Given the description of an element on the screen output the (x, y) to click on. 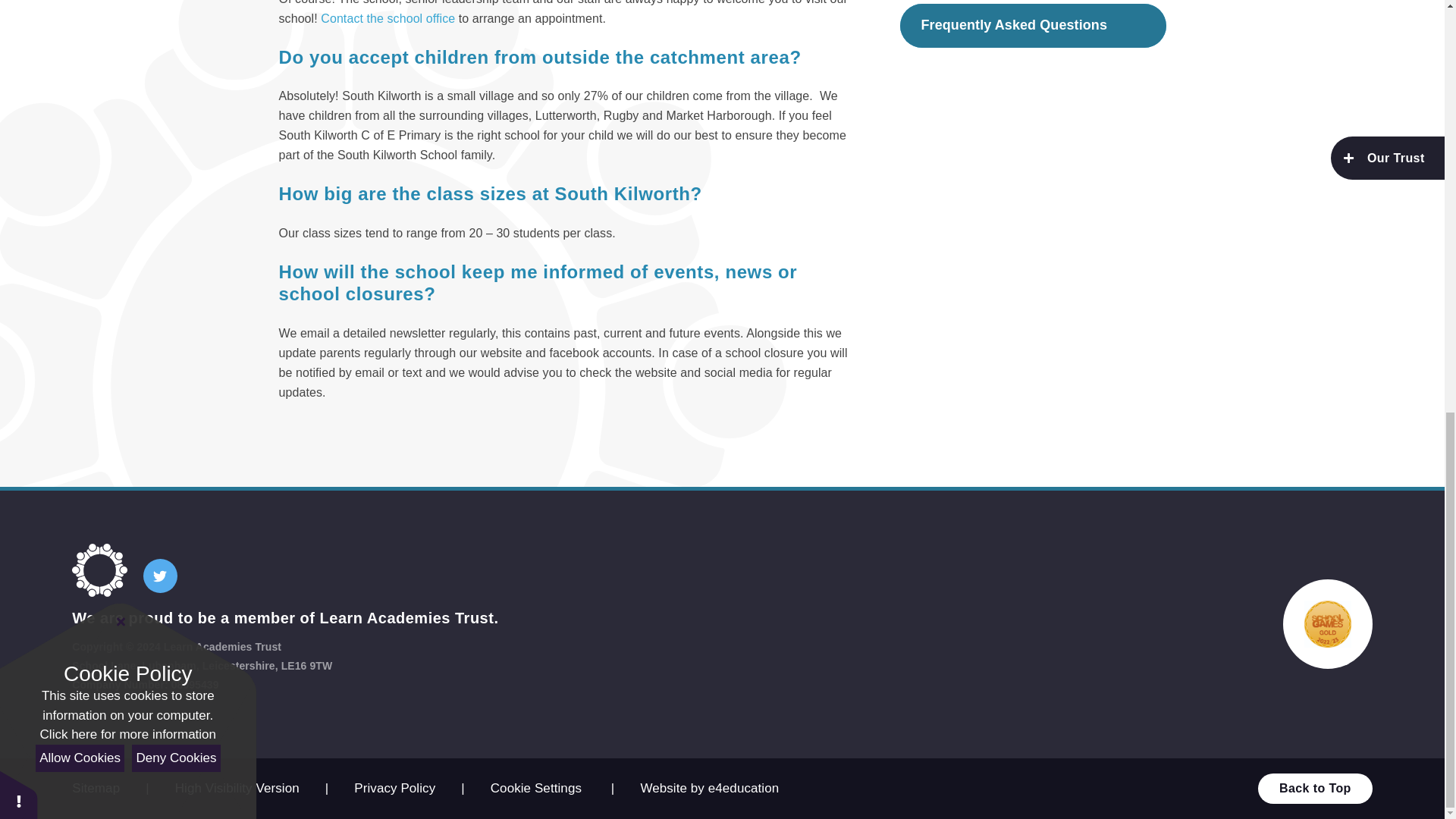
School Games Mark Gold (1327, 623)
Cookie Settings (535, 788)
